Given the description of an element on the screen output the (x, y) to click on. 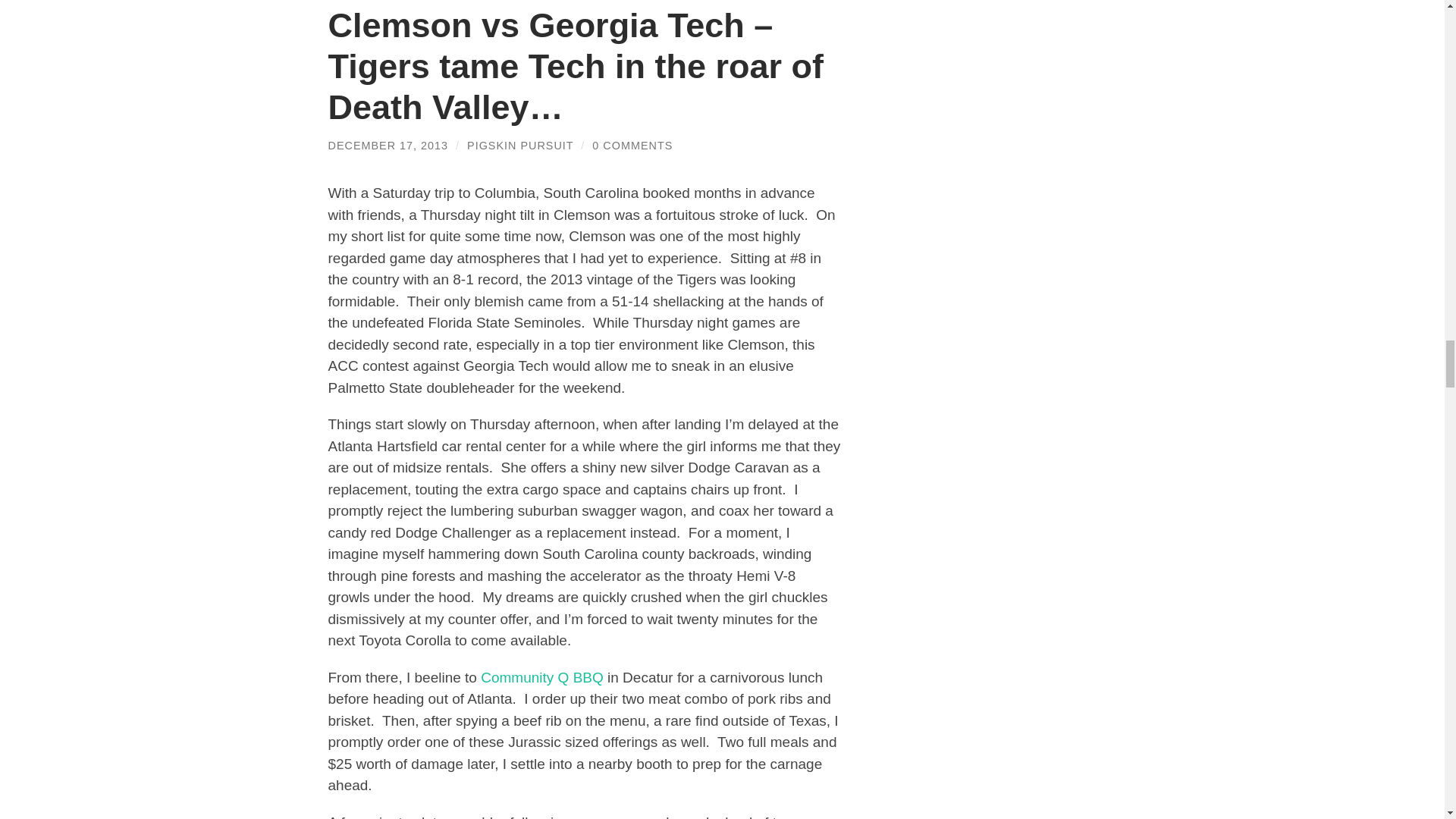
Posts by Pigskin Pursuit (520, 145)
